Given the description of an element on the screen output the (x, y) to click on. 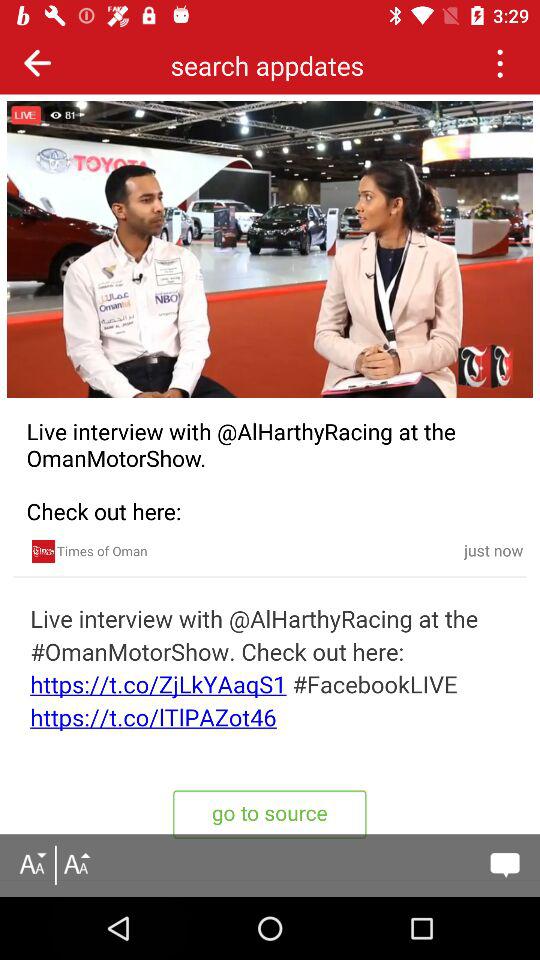
open the times of oman (43, 551)
